Given the description of an element on the screen output the (x, y) to click on. 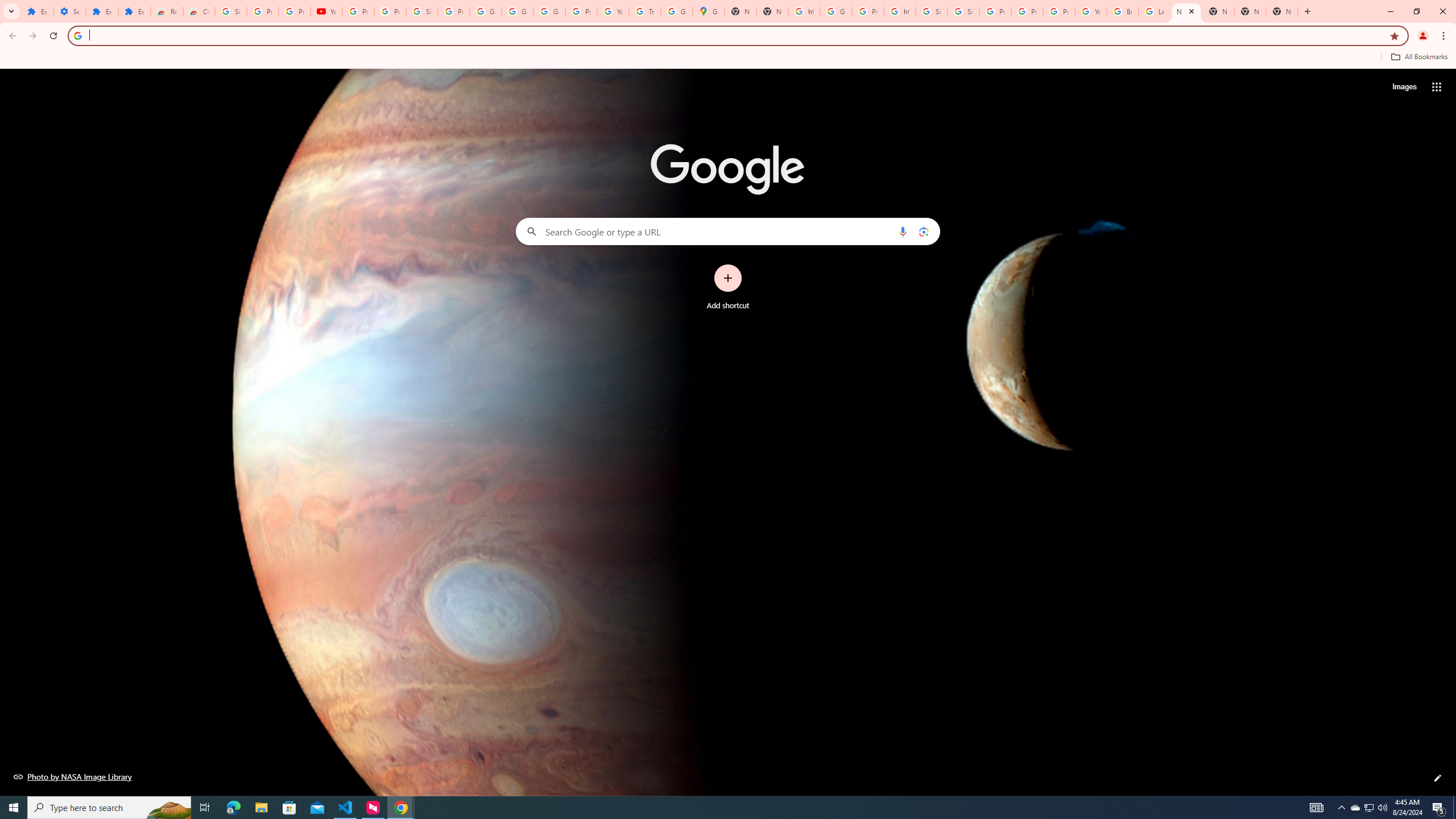
Bookmarks (728, 58)
Chrome Web Store - Themes (198, 11)
New Tab (1249, 11)
Photo by NASA Image Library (72, 776)
Google Account (517, 11)
